Given the description of an element on the screen output the (x, y) to click on. 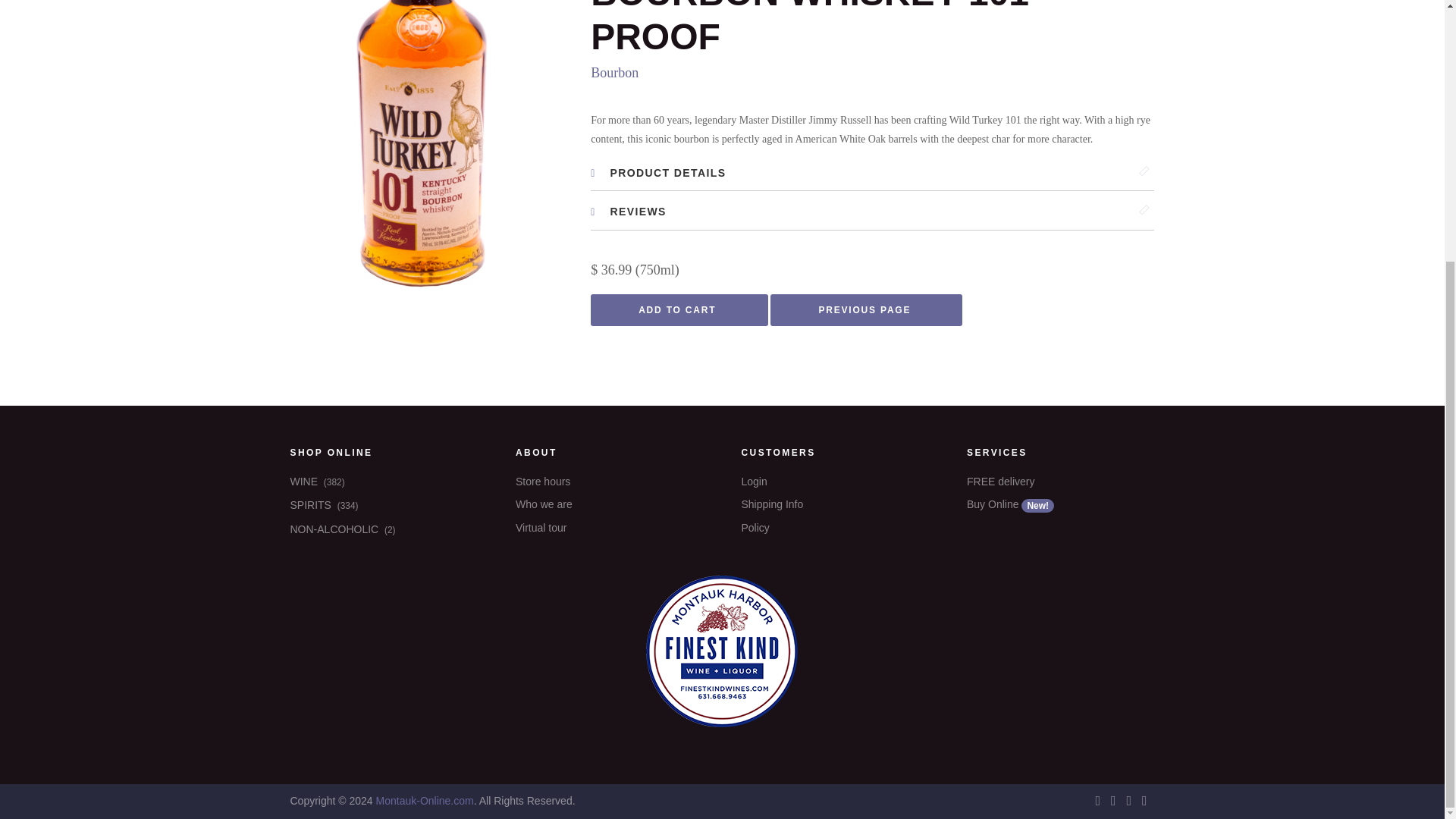
PREVIOUS PAGE (866, 309)
Who we are (609, 504)
PRODUCT DETAILS (872, 173)
ADD TO CART (679, 309)
Virtual tour (609, 527)
Store hours (609, 481)
REVIEWS (872, 211)
